Given the description of an element on the screen output the (x, y) to click on. 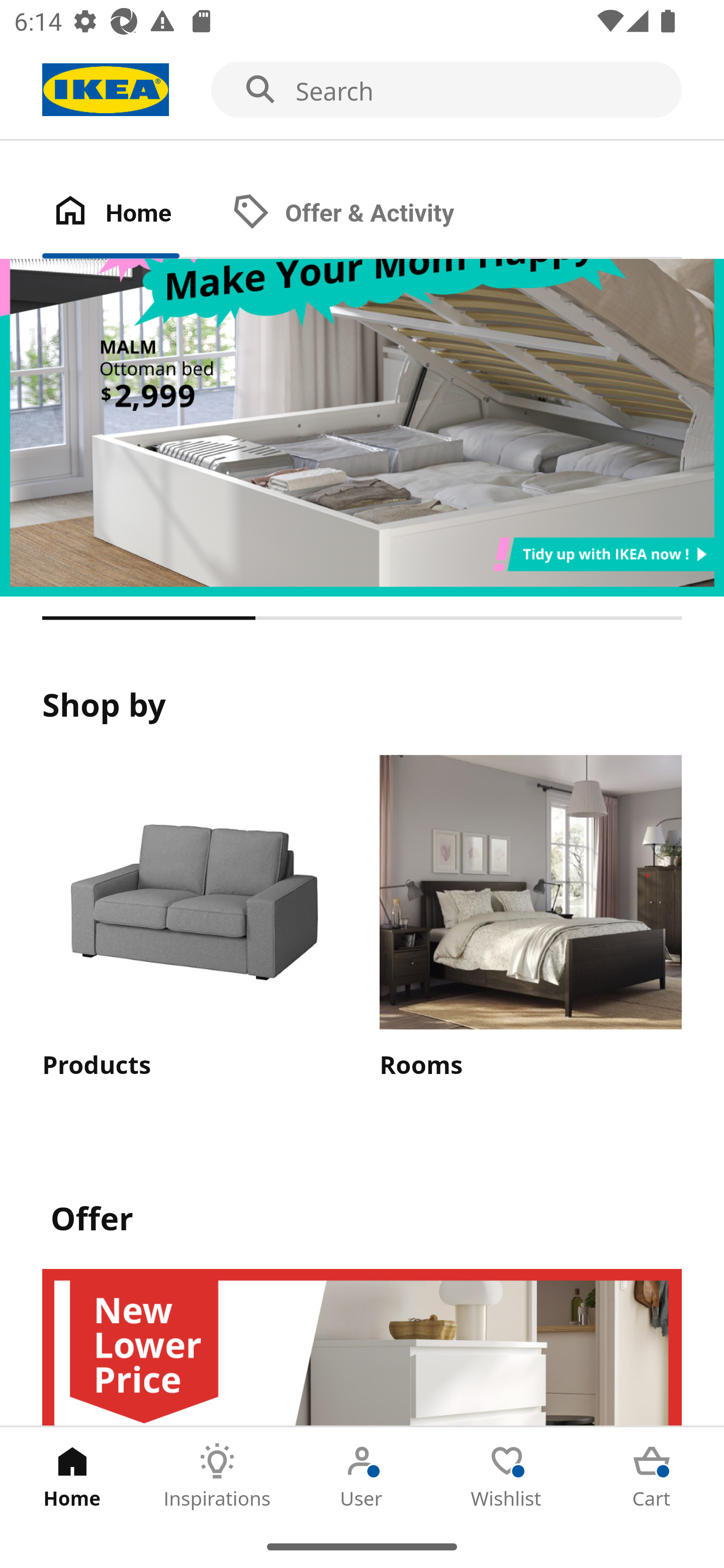
Search (361, 90)
Home
Tab 1 of 2 (131, 213)
Offer & Activity
Tab 2 of 2 (363, 213)
Products (192, 917)
Rooms (530, 917)
Home
Tab 1 of 5 (72, 1476)
Inspirations
Tab 2 of 5 (216, 1476)
User
Tab 3 of 5 (361, 1476)
Wishlist
Tab 4 of 5 (506, 1476)
Cart
Tab 5 of 5 (651, 1476)
